Given the description of an element on the screen output the (x, y) to click on. 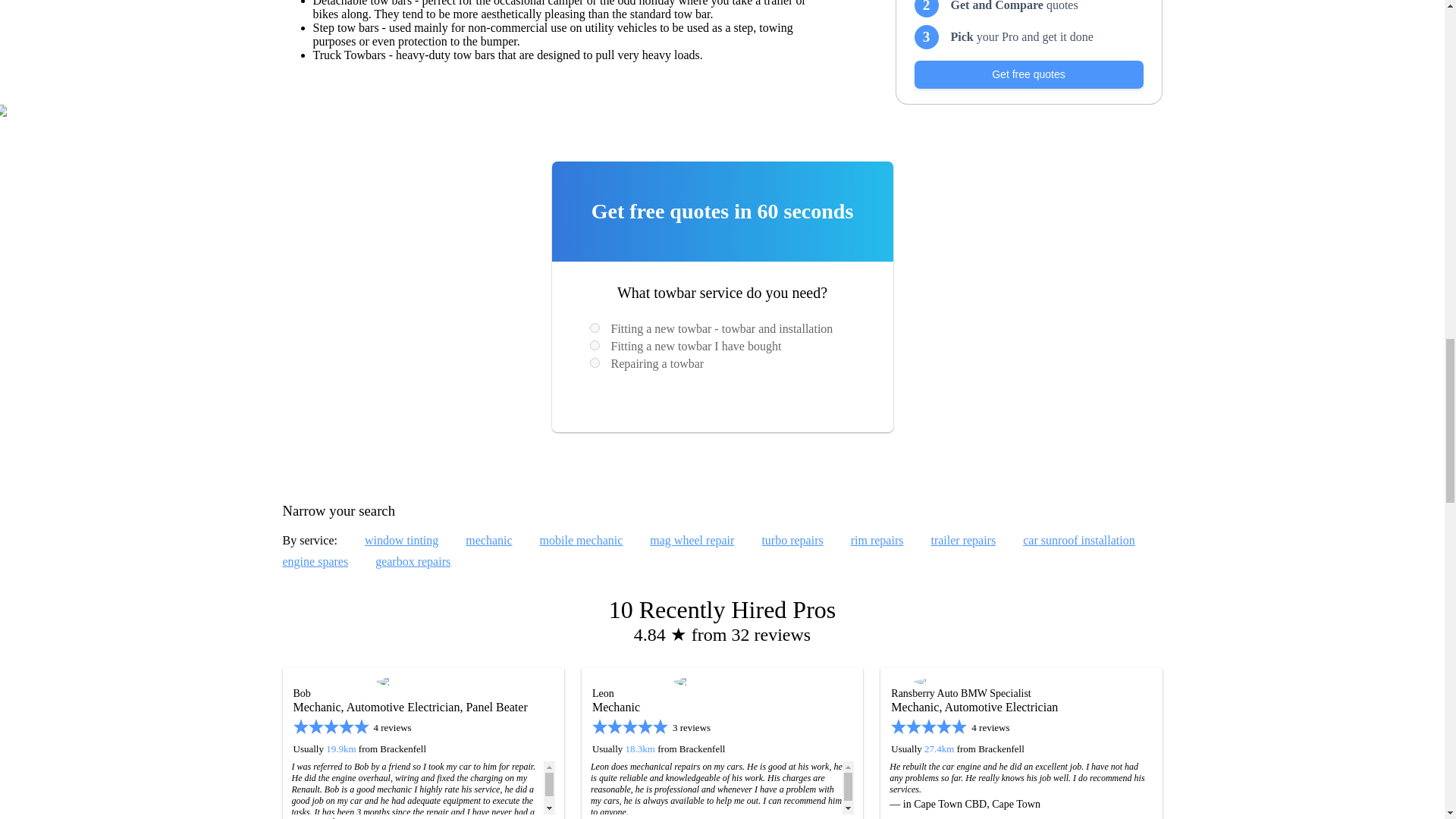
Fitting a new towbar I have bought (594, 345)
gearbox repairs (412, 561)
mechanic (488, 540)
mag wheel repair (691, 540)
window tinting (401, 540)
Repairing a towbar (594, 362)
turbo repairs (791, 540)
mobile mechanic (581, 540)
rim repairs (877, 540)
Get free quotes (1028, 74)
engine spares (314, 561)
car sunroof installation (1079, 540)
Fitting a new towbar - towbar and installation (594, 327)
trailer repairs (962, 540)
